Given the description of an element on the screen output the (x, y) to click on. 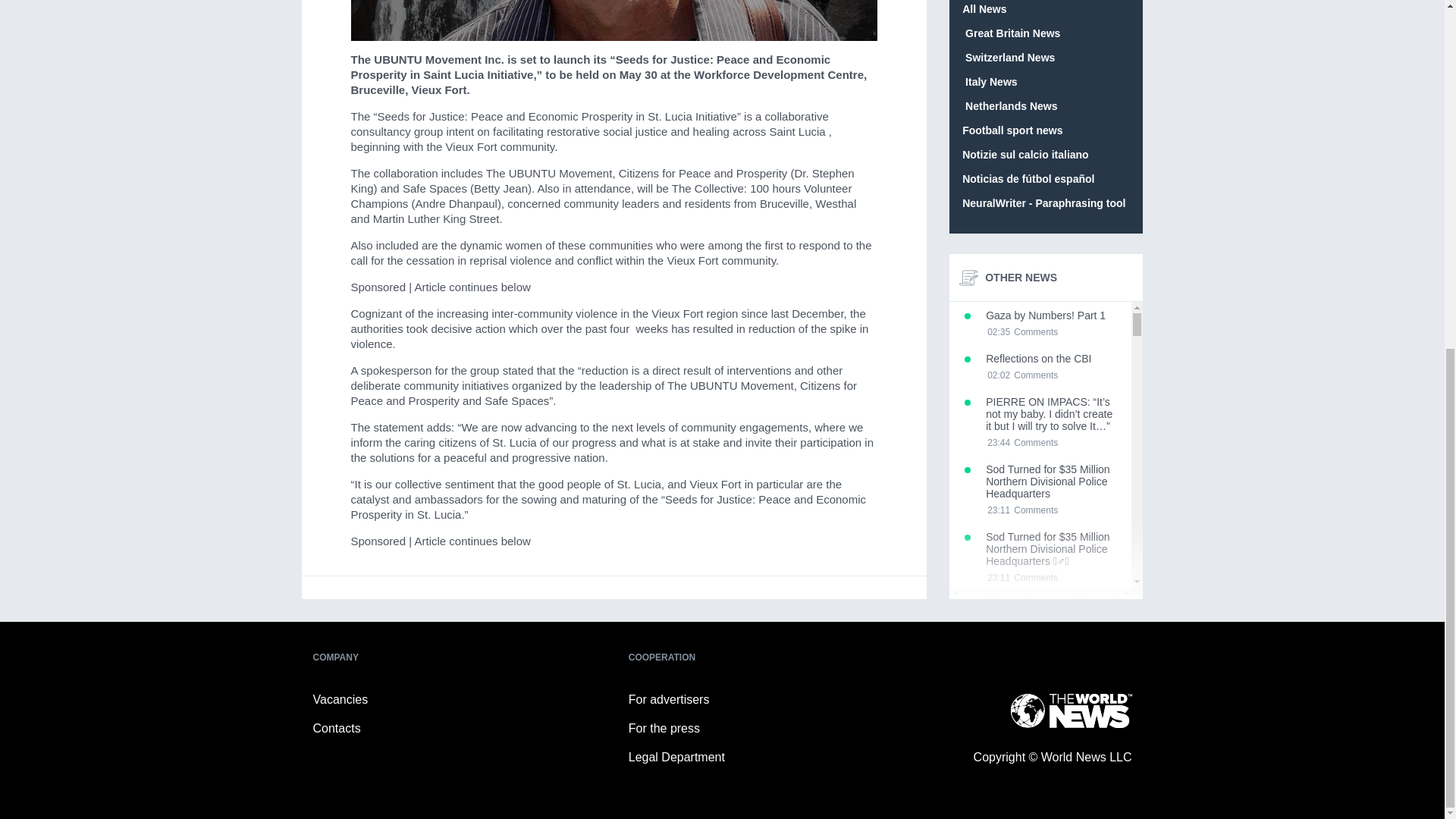
Great Britain News (1010, 32)
Switzerland News (1008, 57)
All News (984, 8)
NeuralWriter - Paraphrasing tool (1043, 202)
Italy News (1040, 366)
Netherlands News (989, 81)
Notizie sul calcio italiano (1040, 618)
